Given the description of an element on the screen output the (x, y) to click on. 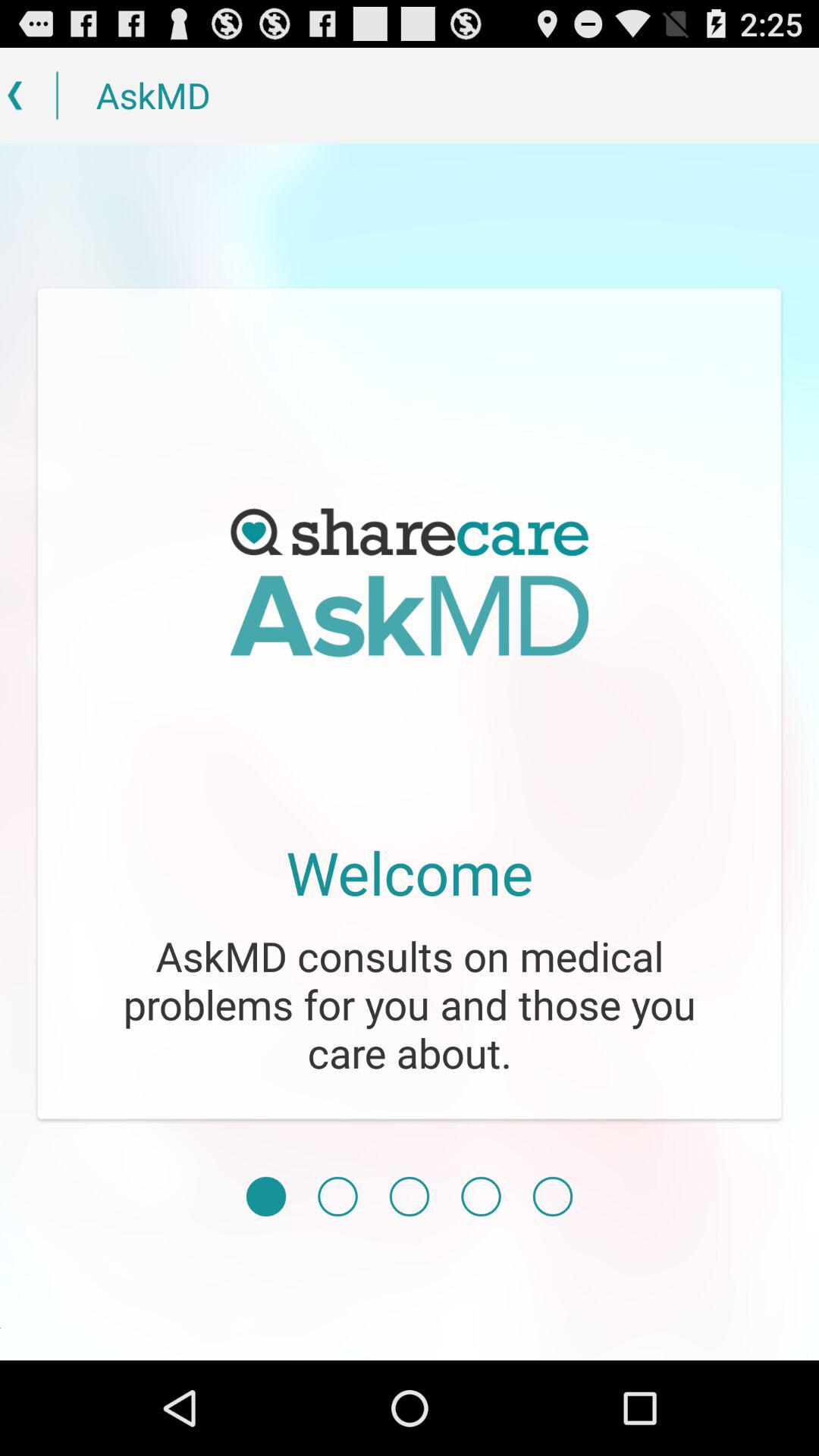
go to next screen (337, 1196)
